Given the description of an element on the screen output the (x, y) to click on. 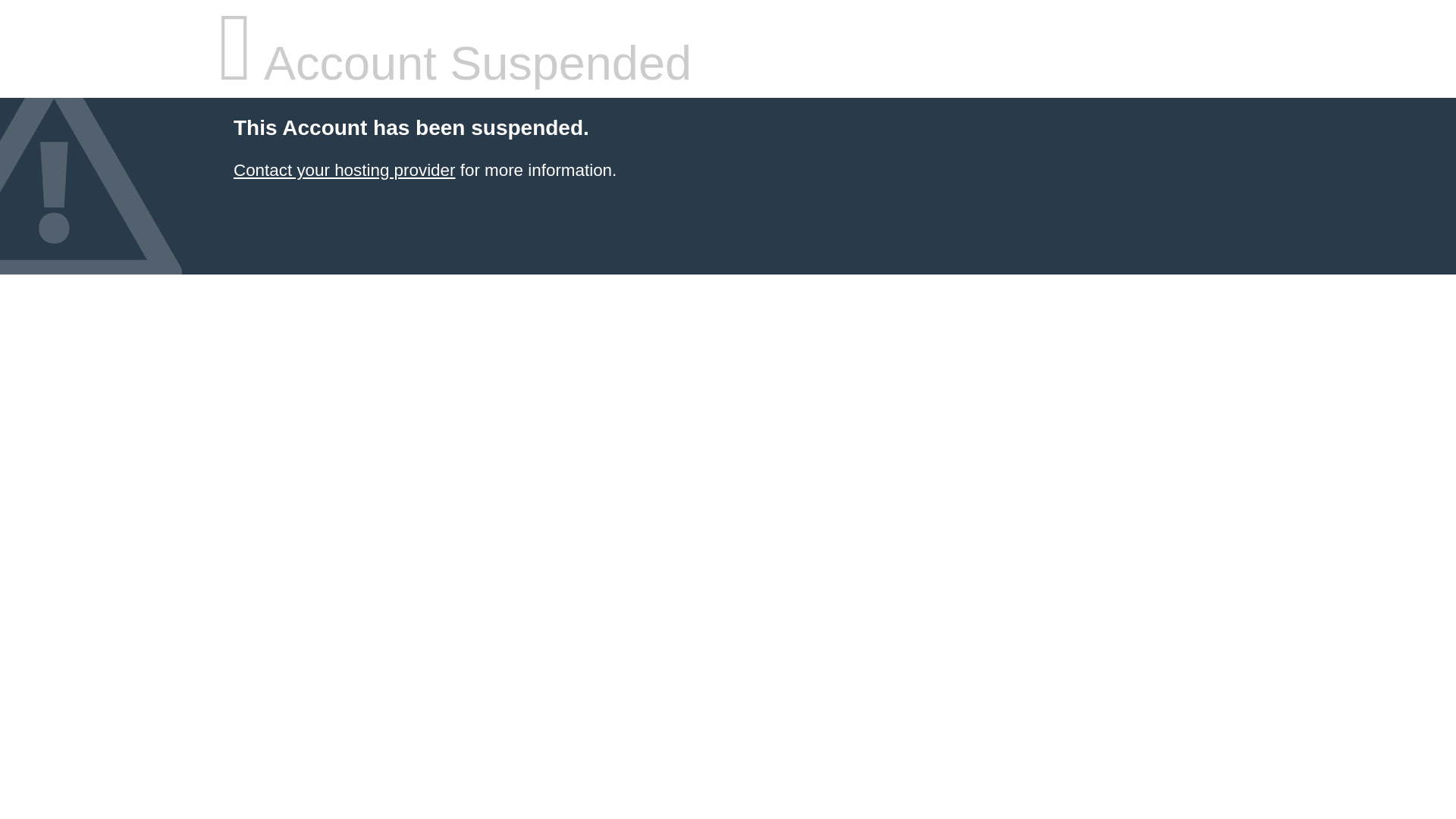
Contact your hosting provider (343, 169)
